Given the description of an element on the screen output the (x, y) to click on. 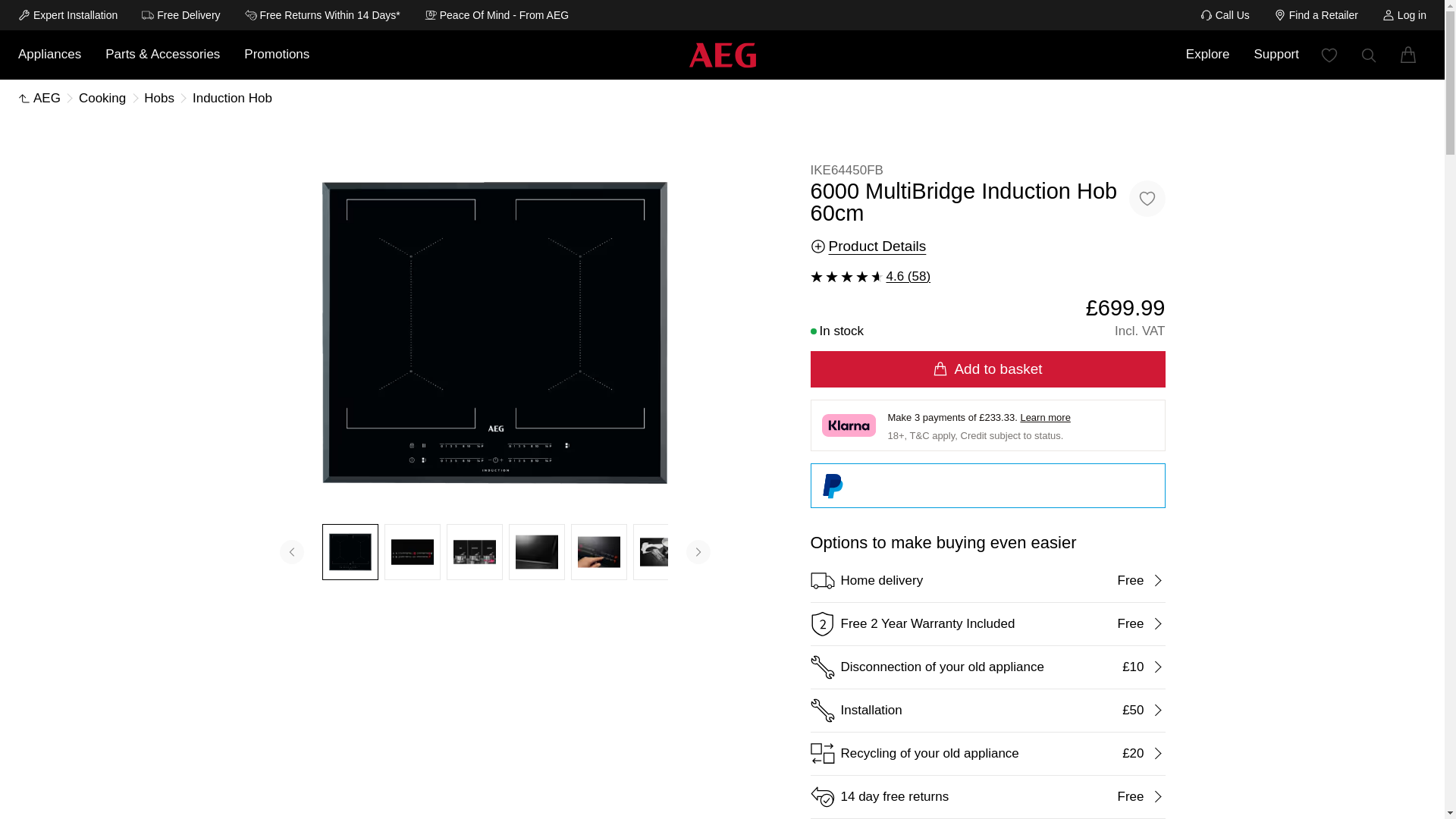
Peace Of Mind - From AEG (497, 15)
Log in (1403, 15)
Call Us (1224, 15)
Expert Installation (67, 15)
Support (1275, 53)
Free Delivery (180, 15)
Find a Retailer (1316, 15)
